Given the description of an element on the screen output the (x, y) to click on. 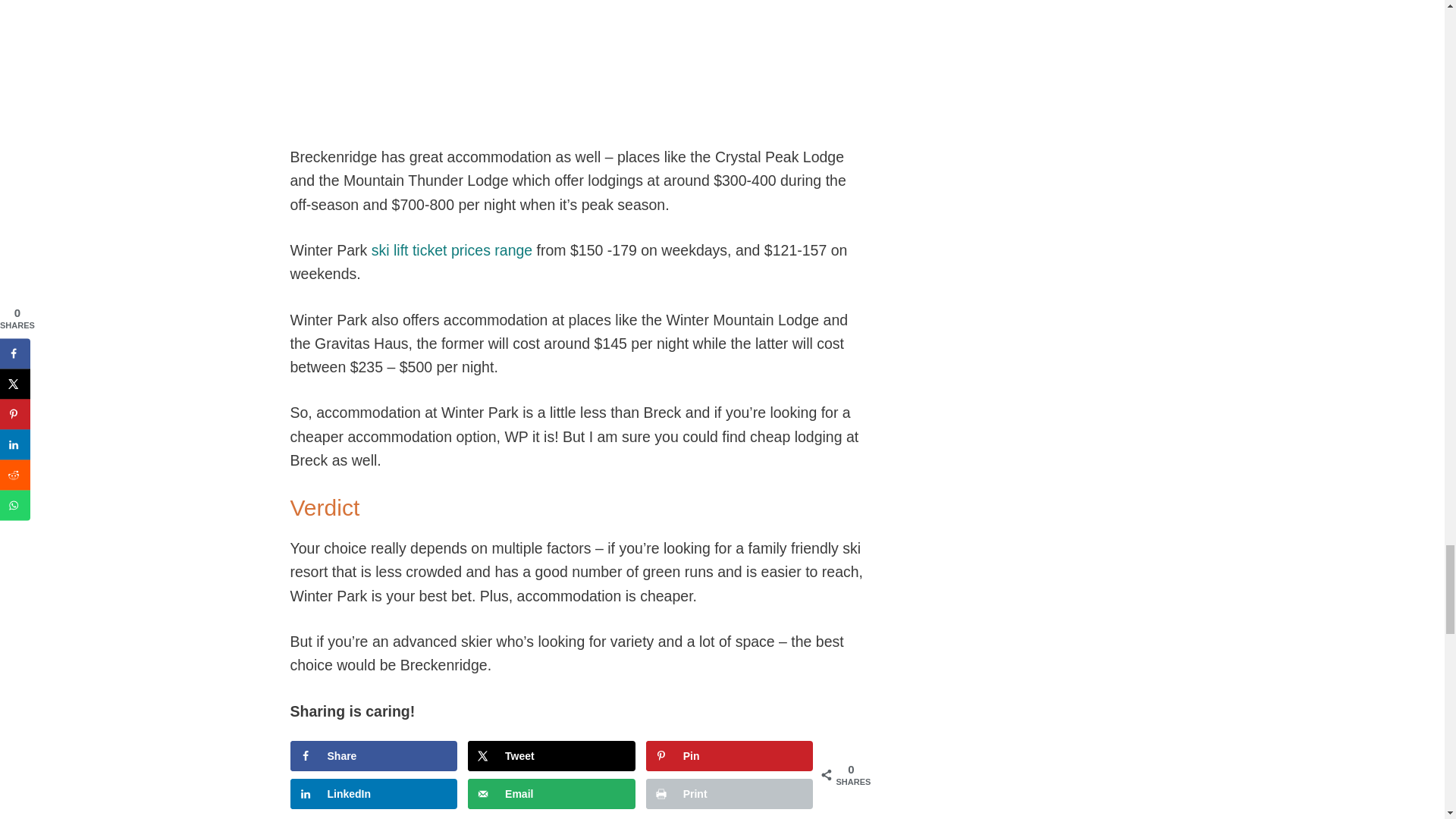
LinkedIn (373, 793)
Pin (729, 756)
Tweet (550, 756)
Share on LinkedIn (373, 793)
Print this webpage (729, 793)
Share on X (550, 756)
Email (550, 793)
Print (729, 793)
Send over email (550, 793)
ski lift ticket prices range (451, 249)
